Given the description of an element on the screen output the (x, y) to click on. 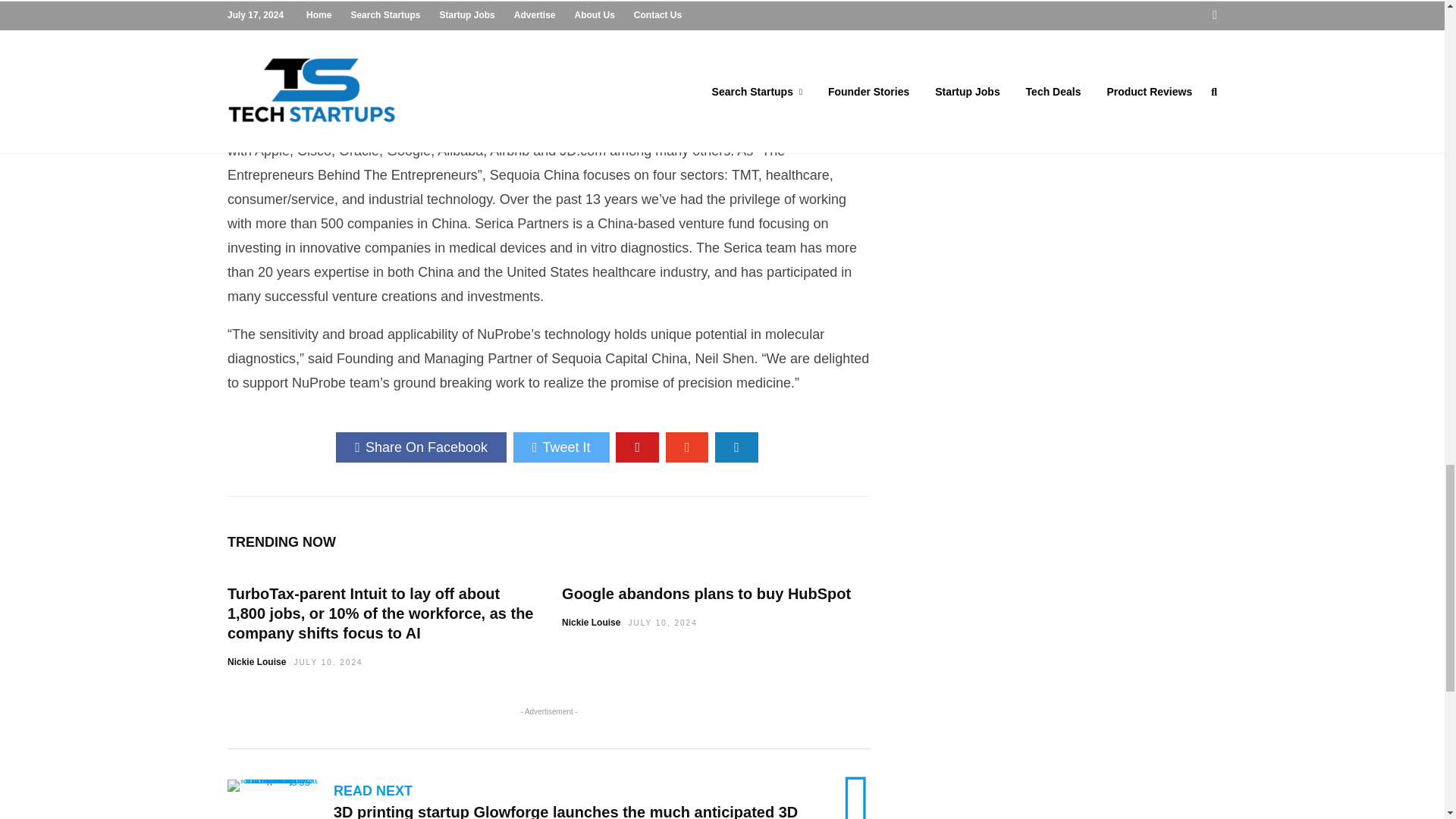
Share On Twitter (561, 447)
Share On Facebook (421, 447)
Share On Pinterest (637, 447)
Share by Email (736, 447)
